Given the description of an element on the screen output the (x, y) to click on. 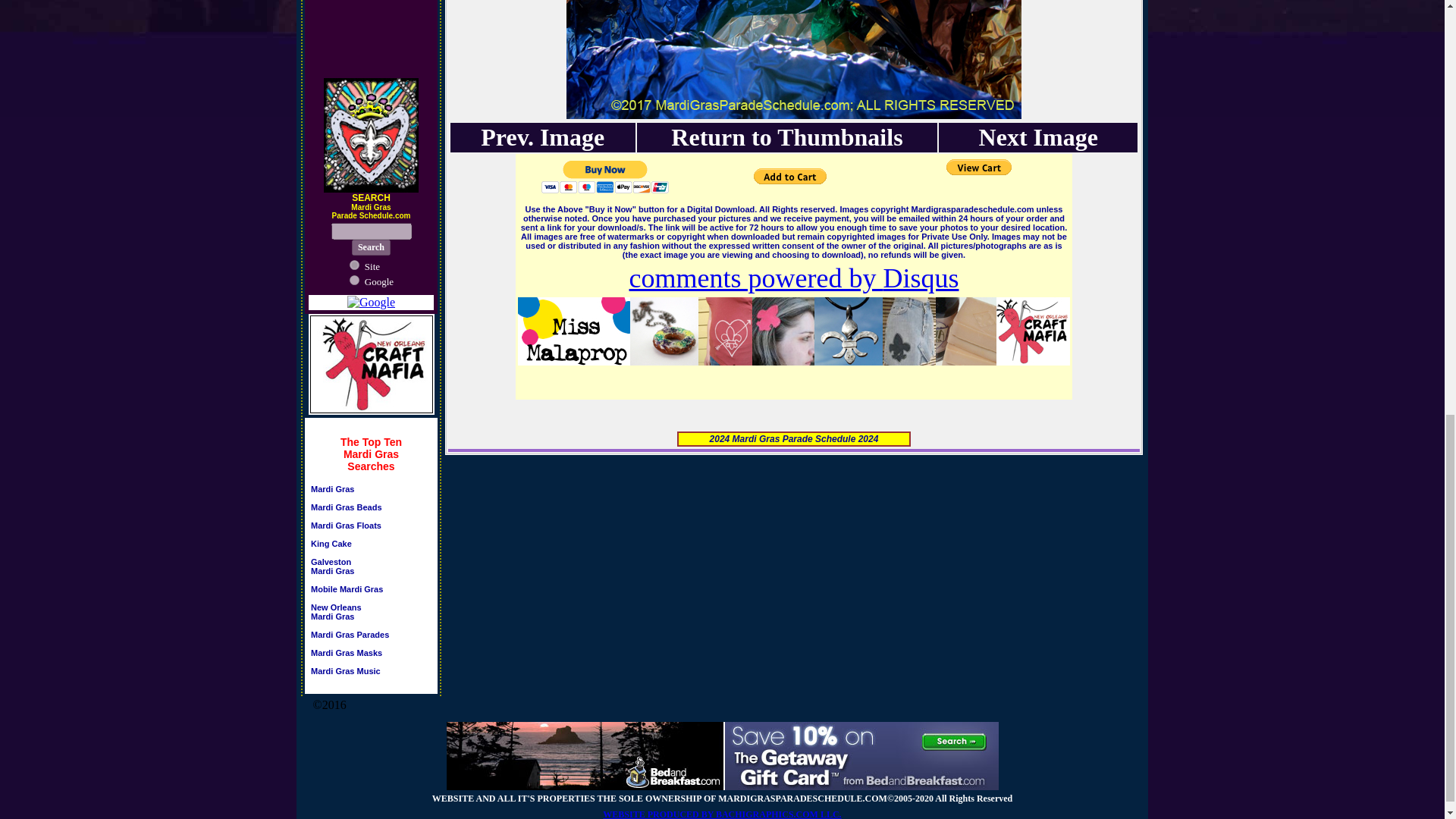
King Cake (332, 570)
Mardi Gras Parades (331, 547)
Mobile Mardi Gras (349, 638)
Mardi Gras Masks (336, 615)
Return to Thumbnails (346, 593)
Search the Web (346, 657)
Prev. Image (786, 136)
Mardi Gras (379, 280)
Mardi Gras Floats (542, 136)
Search www.mardigrasparadeschedule.com (332, 488)
Search (346, 529)
Mardi Gras Music (372, 265)
www.mardigrasparadeschedule.com (371, 247)
